Given the description of an element on the screen output the (x, y) to click on. 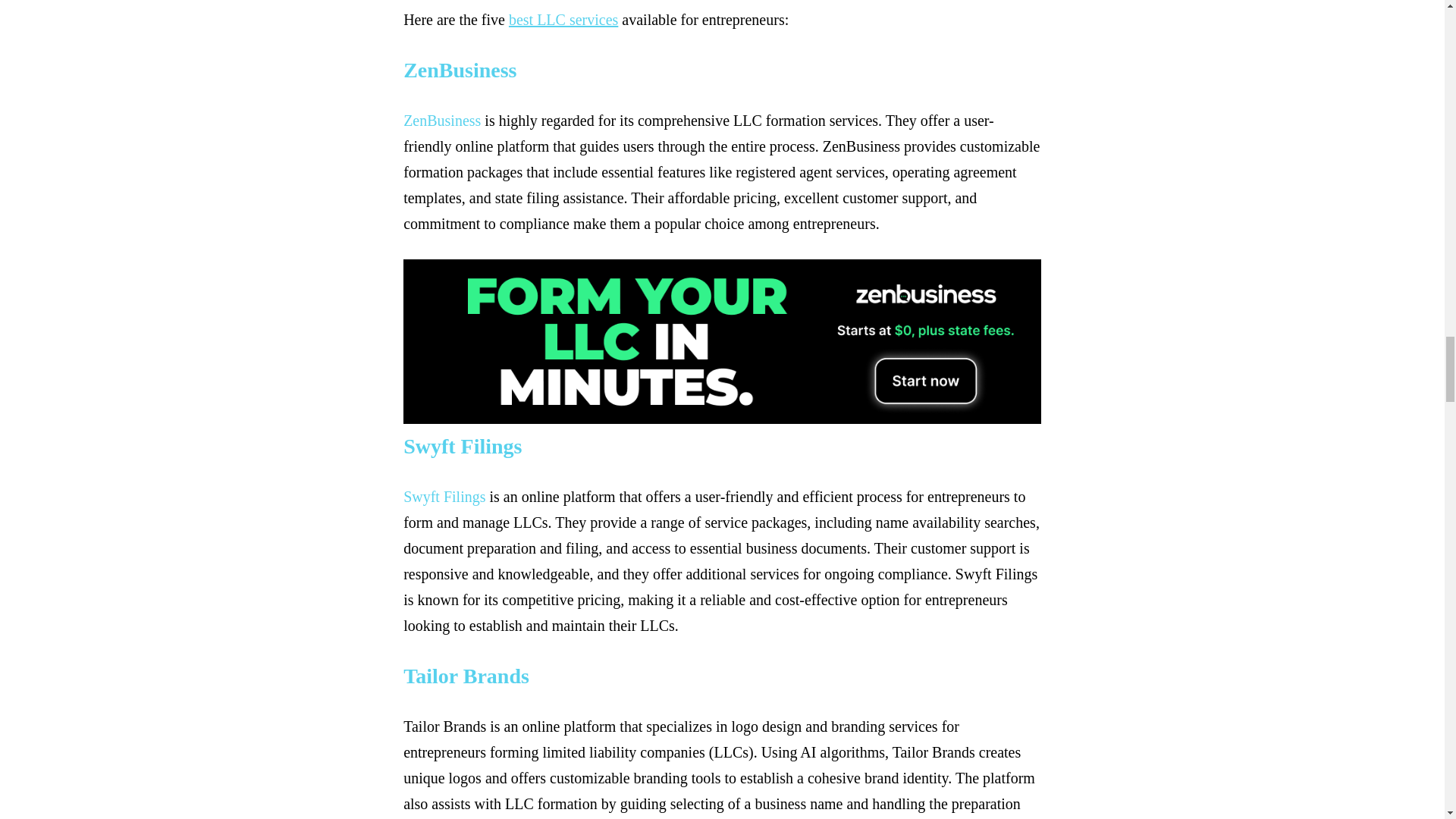
Swyft Filings - LLC Filing (462, 445)
best LLC services (562, 19)
ZenBusiness - Generic LLC Filing (441, 120)
ZenBusiness - Generic LLC Filing (459, 69)
